Given the description of an element on the screen output the (x, y) to click on. 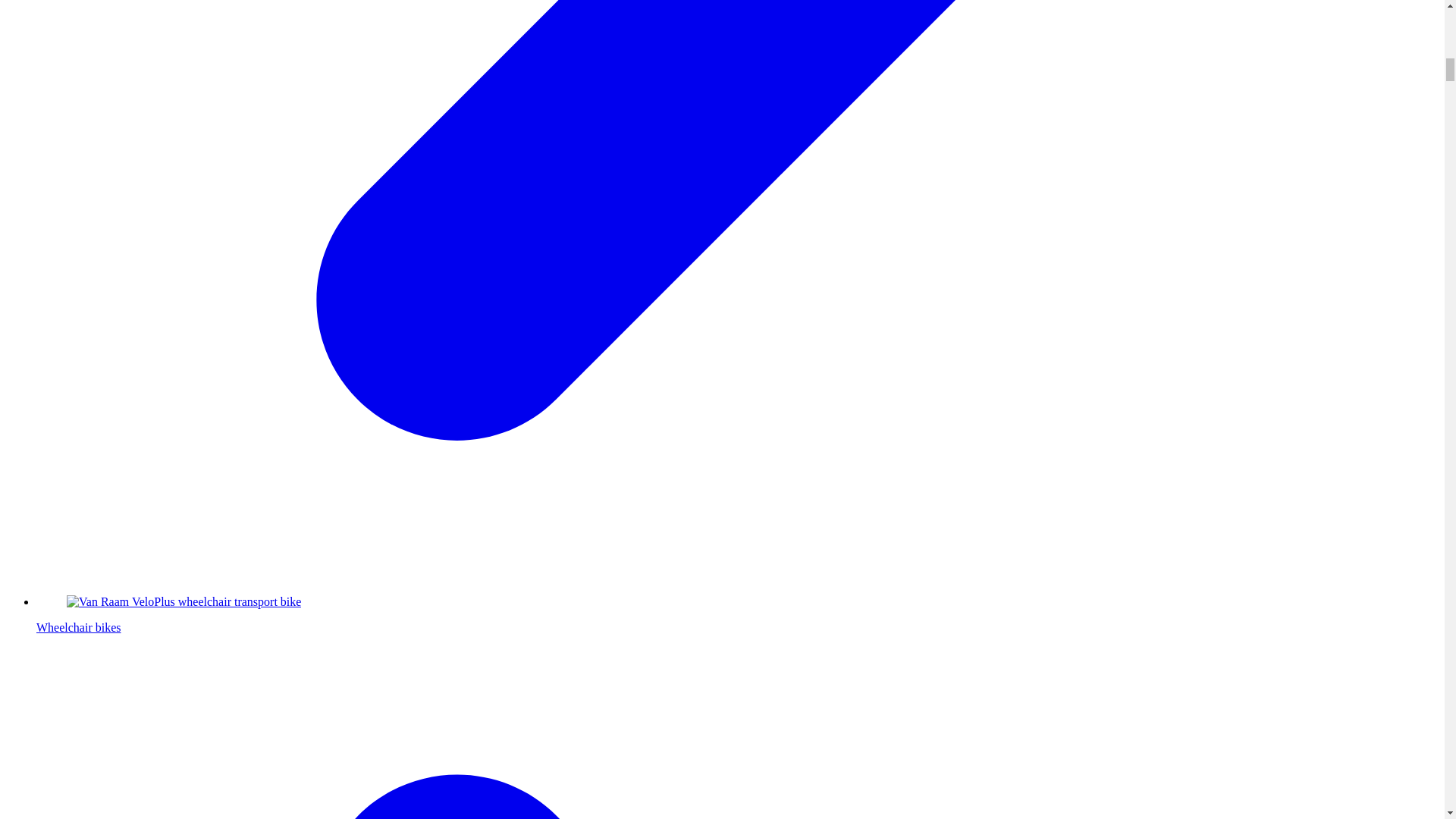
Van Raam VeloPlus wheelchair transport bike (183, 602)
